Given the description of an element on the screen output the (x, y) to click on. 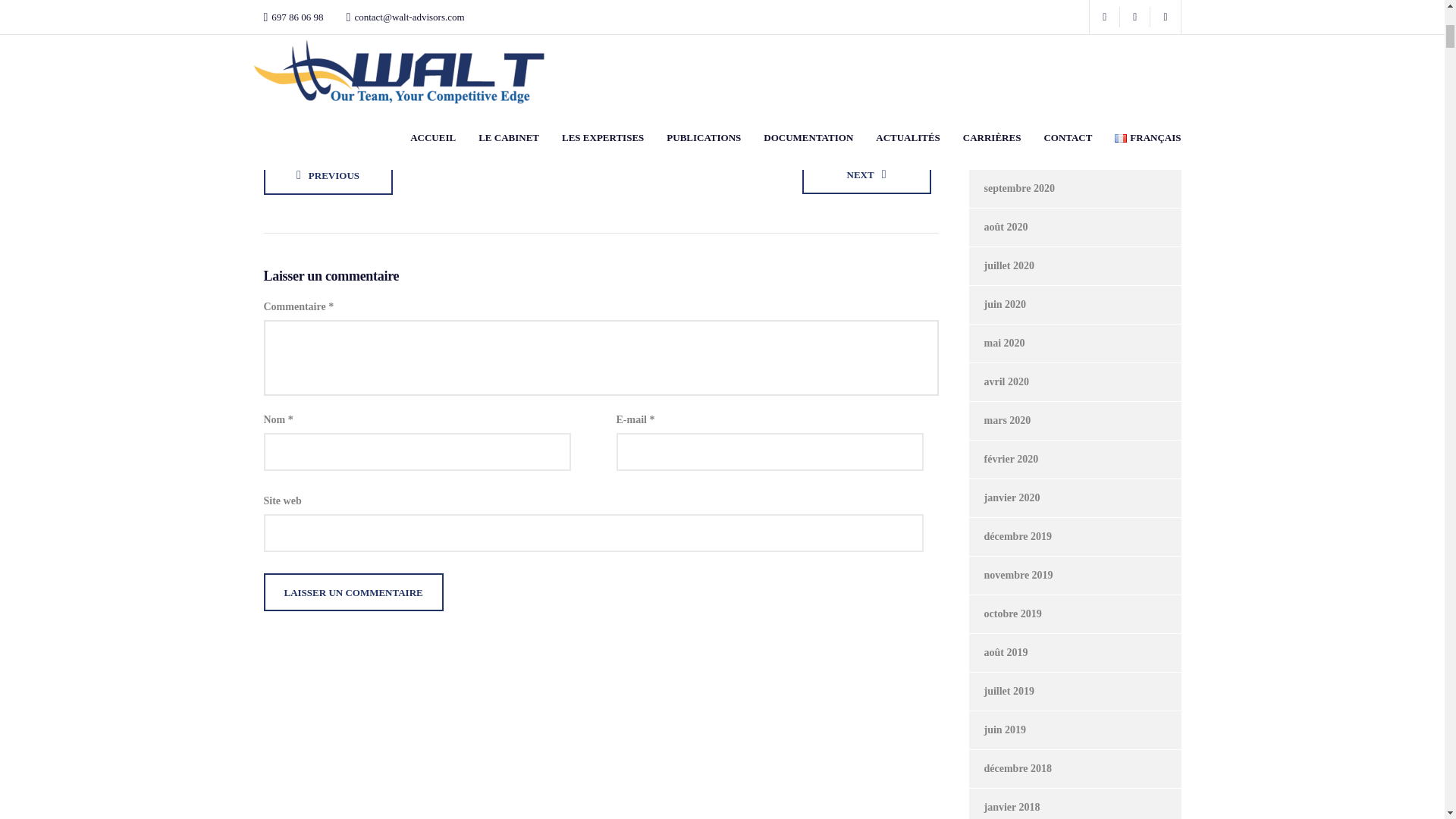
Laisser un commentaire (353, 591)
